Given the description of an element on the screen output the (x, y) to click on. 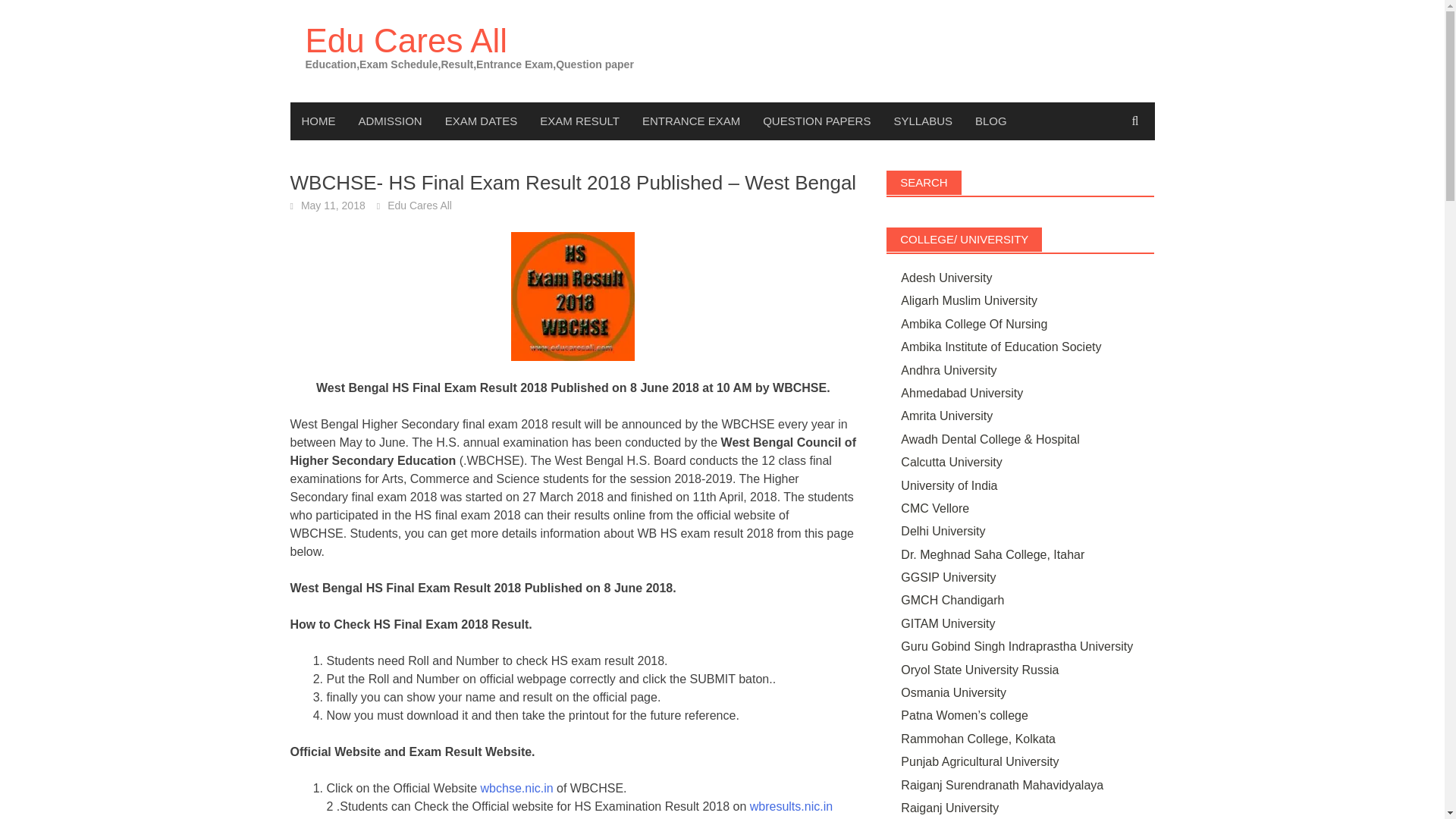
QUESTION PAPERS (816, 121)
Adesh University (946, 277)
Edu Cares All (405, 40)
HOME (317, 121)
Amrita University (946, 415)
BLOG (990, 121)
EXAM DATES (481, 121)
Andhra University (948, 369)
Ambika College Of Nursing (973, 323)
official website for HS exam result 2018 (516, 788)
